Given the description of an element on the screen output the (x, y) to click on. 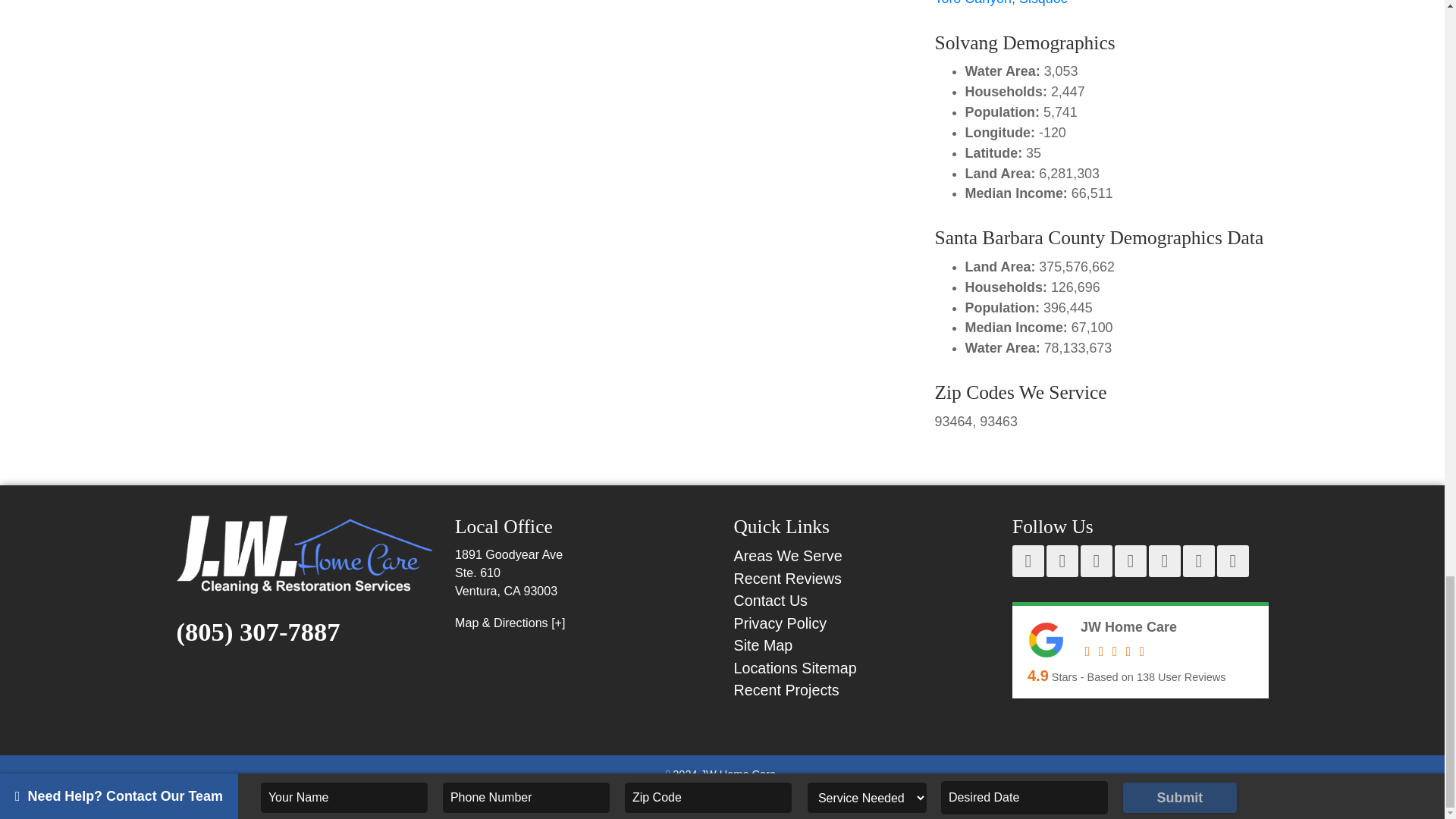
Twitter (1131, 561)
LinkedIn (1198, 561)
Yelp (1096, 561)
Facebook (1027, 561)
Instagram (1164, 561)
